Given the description of an element on the screen output the (x, y) to click on. 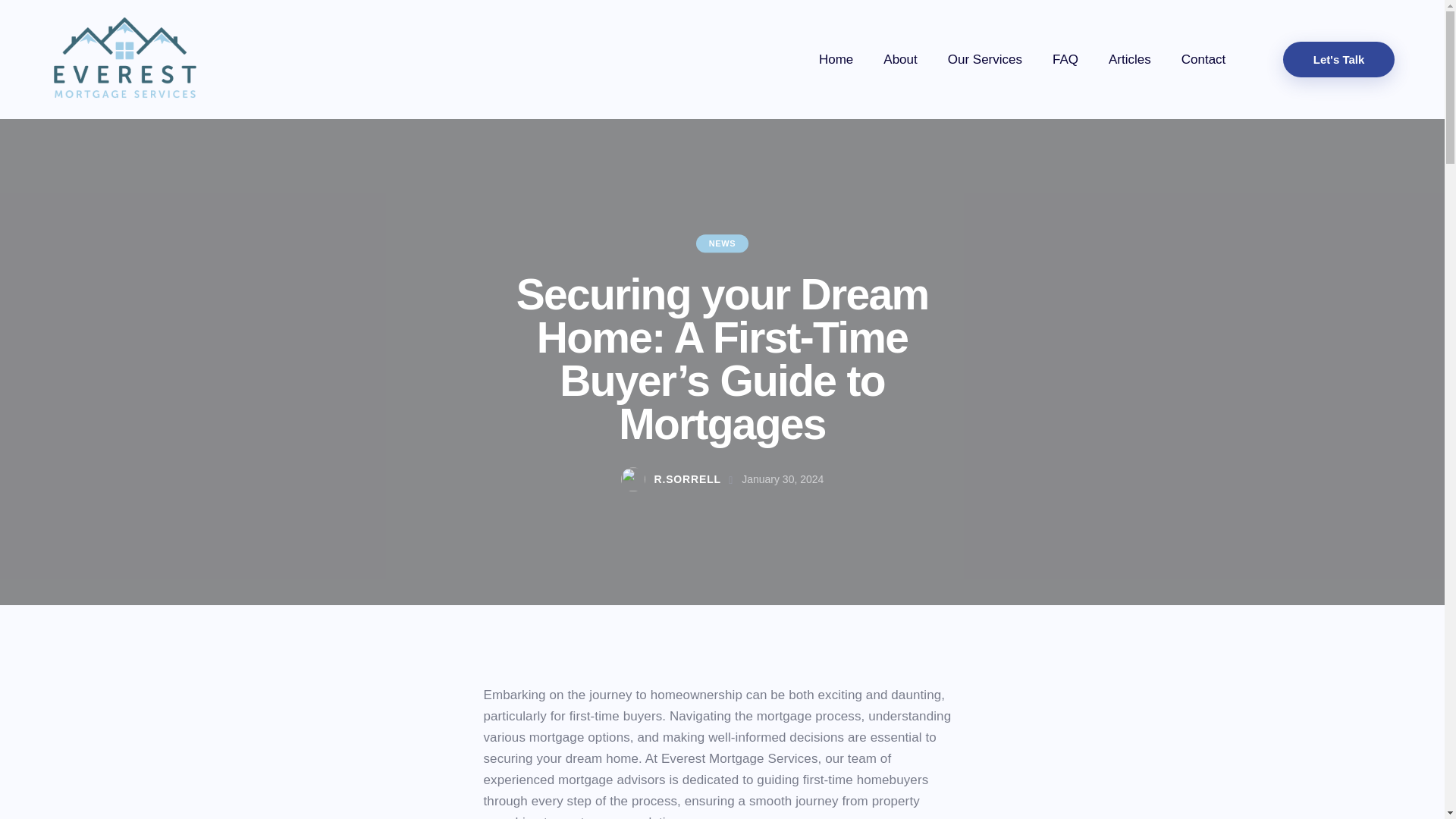
About (899, 59)
Let's Talk (1338, 58)
Home (835, 59)
Articles (1129, 59)
FAQ (1064, 59)
Our Services (984, 59)
Contact (1203, 59)
